Given the description of an element on the screen output the (x, y) to click on. 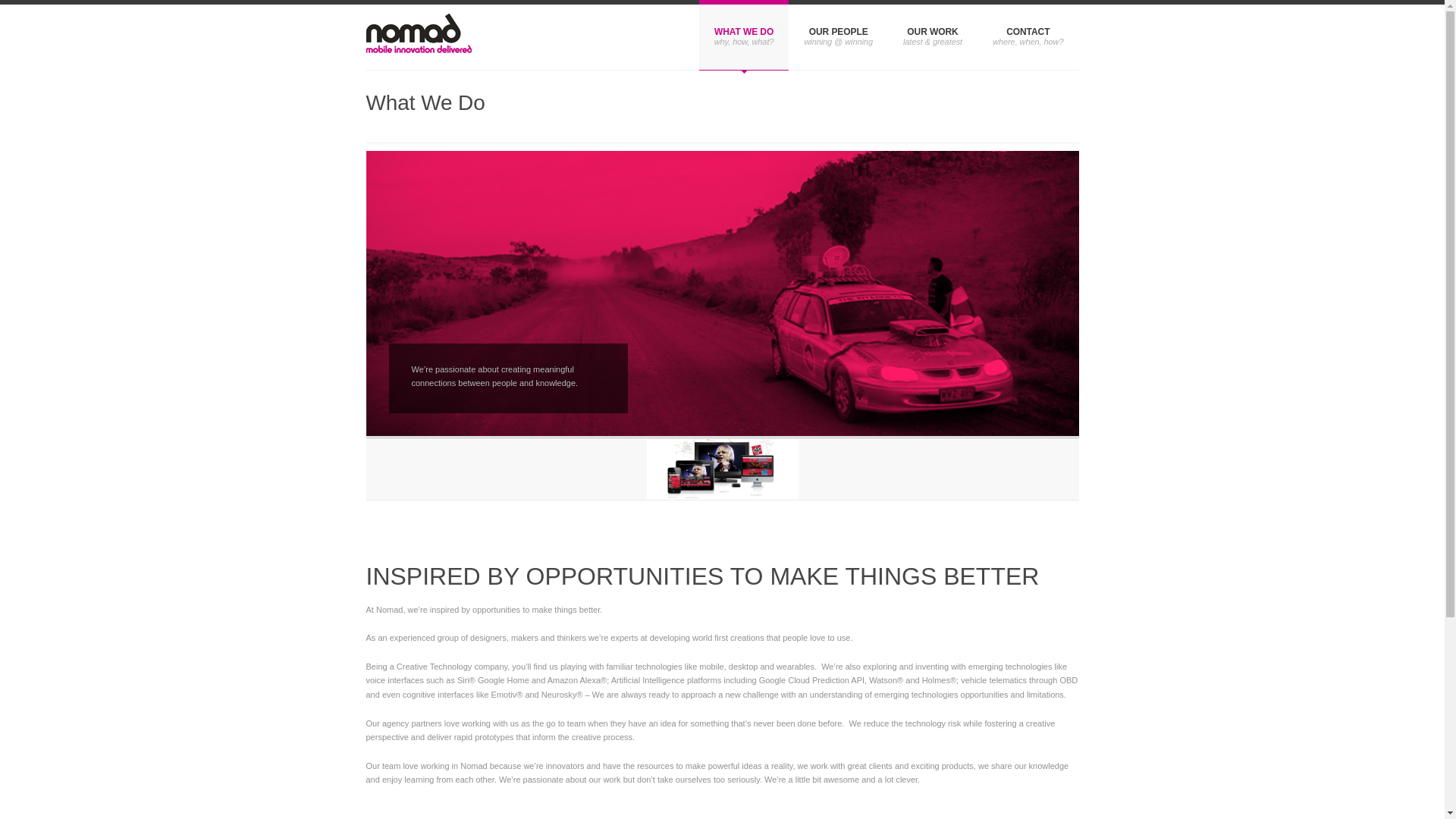
WHAT WE DO Element type: text (744, 35)
CONTACT Element type: text (1027, 35)
OUR WORK Element type: text (932, 35)
OUR PEOPLE Element type: text (838, 35)
Nomad Agency Element type: hover (417, 36)
